Given the description of an element on the screen output the (x, y) to click on. 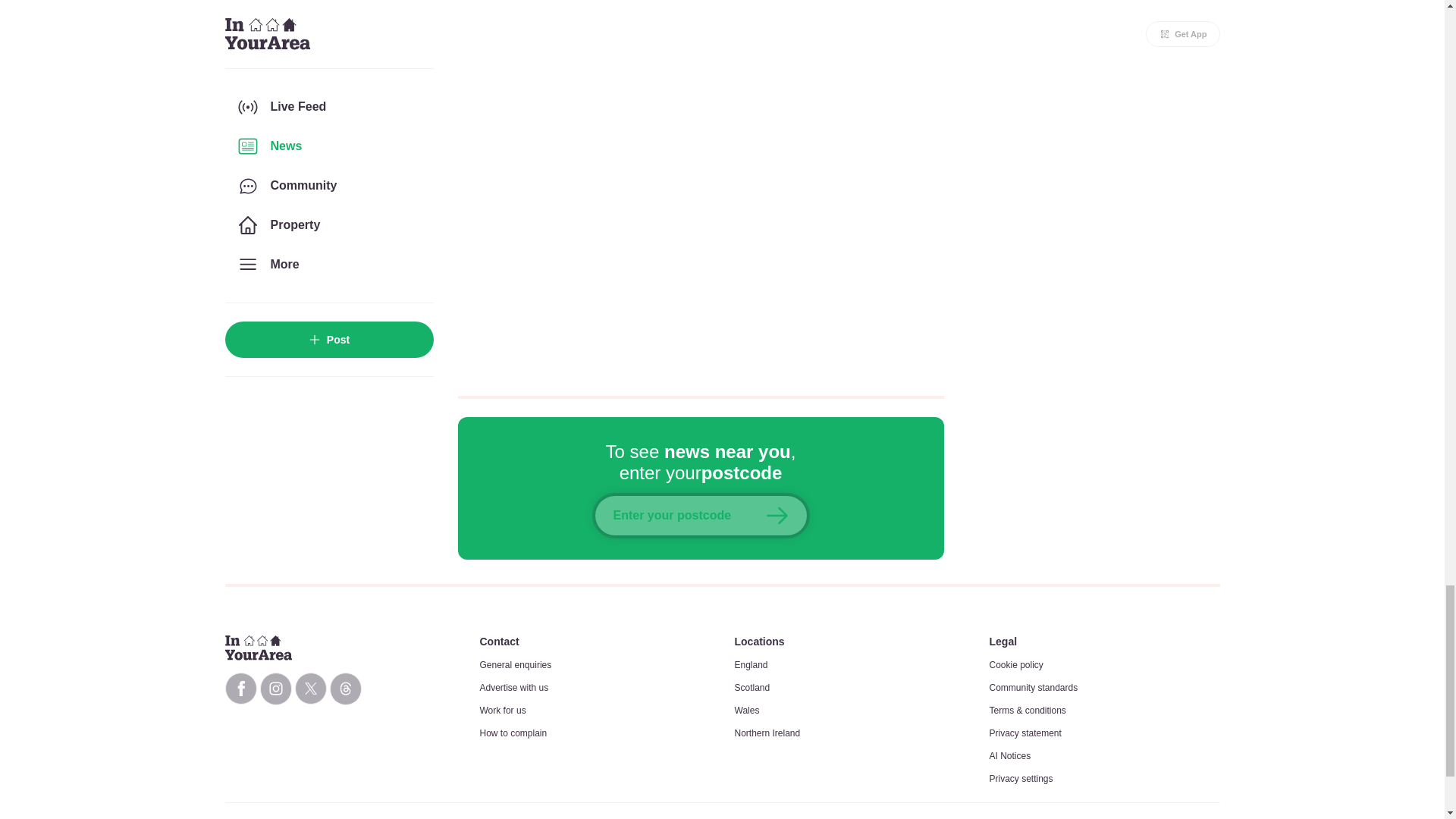
InYourArea Instagram (275, 688)
InYourArea X (310, 688)
InYourArea Facebook (240, 688)
InYourArea Threads (345, 688)
